Given the description of an element on the screen output the (x, y) to click on. 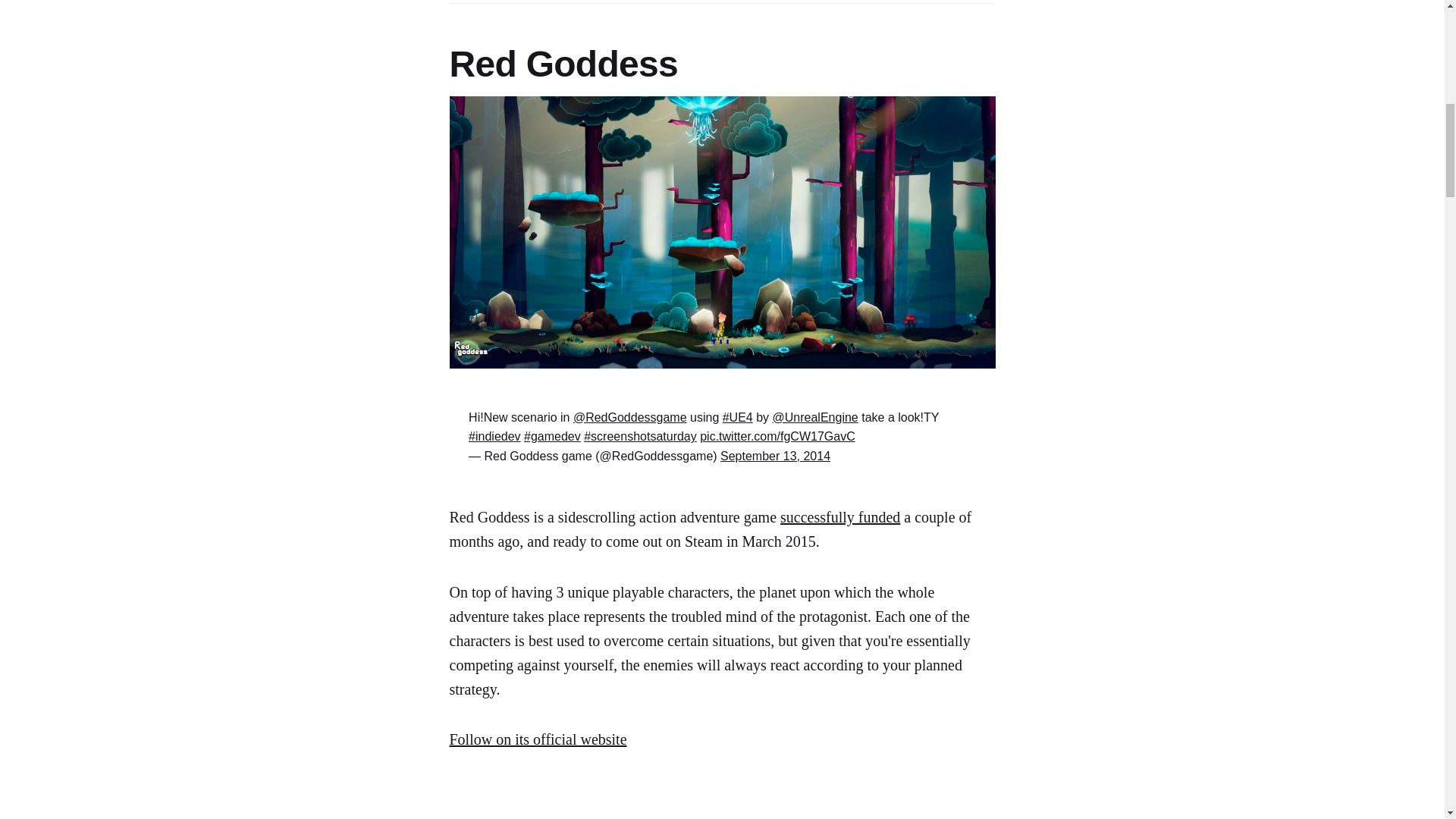
September 13, 2014 (774, 455)
successfully funded (839, 516)
Follow on its official website (537, 739)
